Given the description of an element on the screen output the (x, y) to click on. 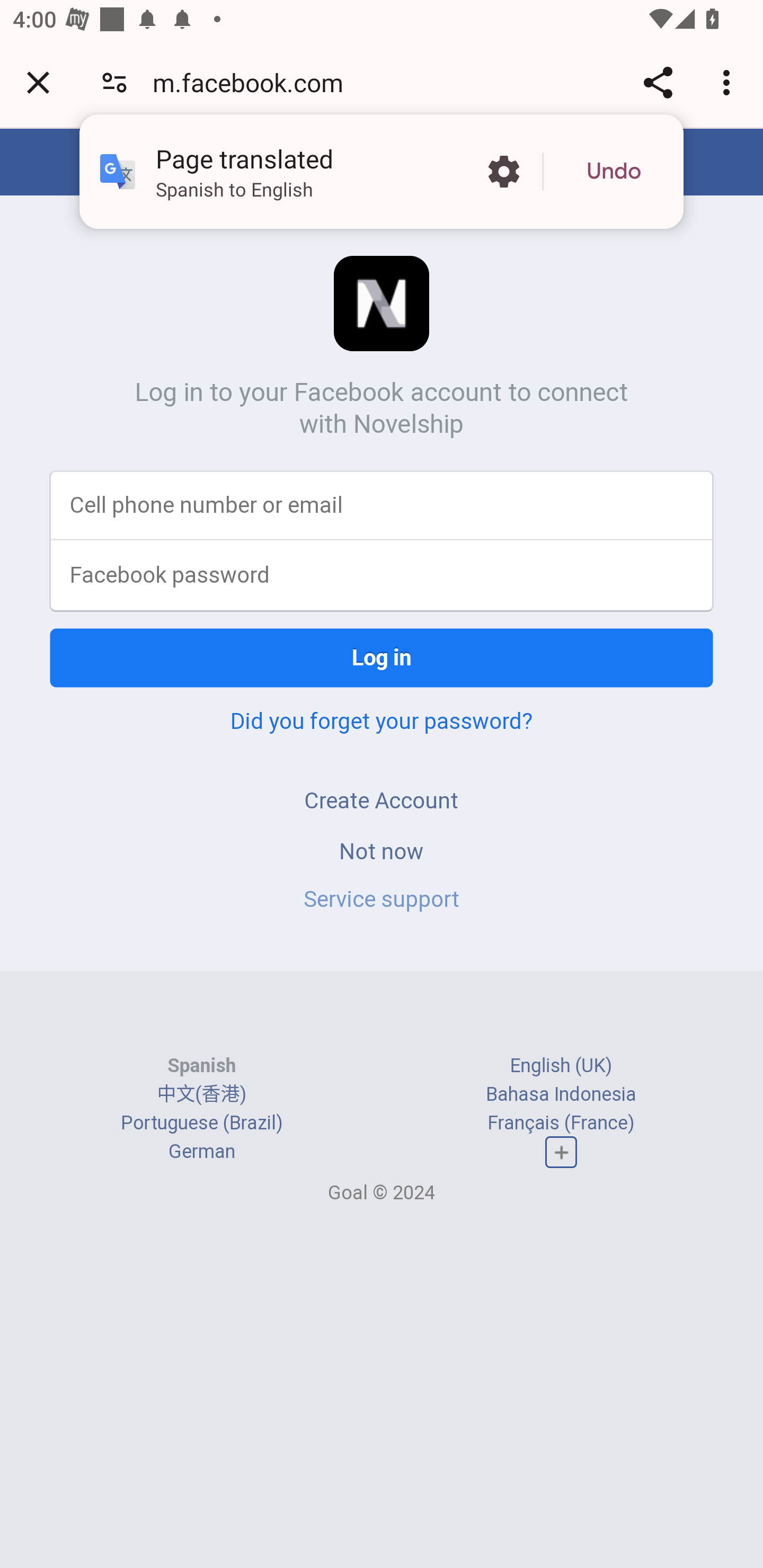
Close tab (38, 82)
Share (657, 82)
Customize and control Google Chrome (729, 82)
Connection is secure (114, 81)
m.facebook.com (254, 81)
Undo (613, 171)
More options in the Page translated (503, 171)
Log in (381, 657)
Did you forget your password? (381, 720)
Create Account (381, 800)
Not now (381, 850)
Service support (381, 898)
English (UK) (560, 1065)
中文(香港) (201, 1093)
Bahasa Indonesia (560, 1093)
Portuguese (Brazil) (201, 1122)
Français (France) (560, 1122)
Full list of languages (560, 1152)
German (201, 1151)
